Given the description of an element on the screen output the (x, y) to click on. 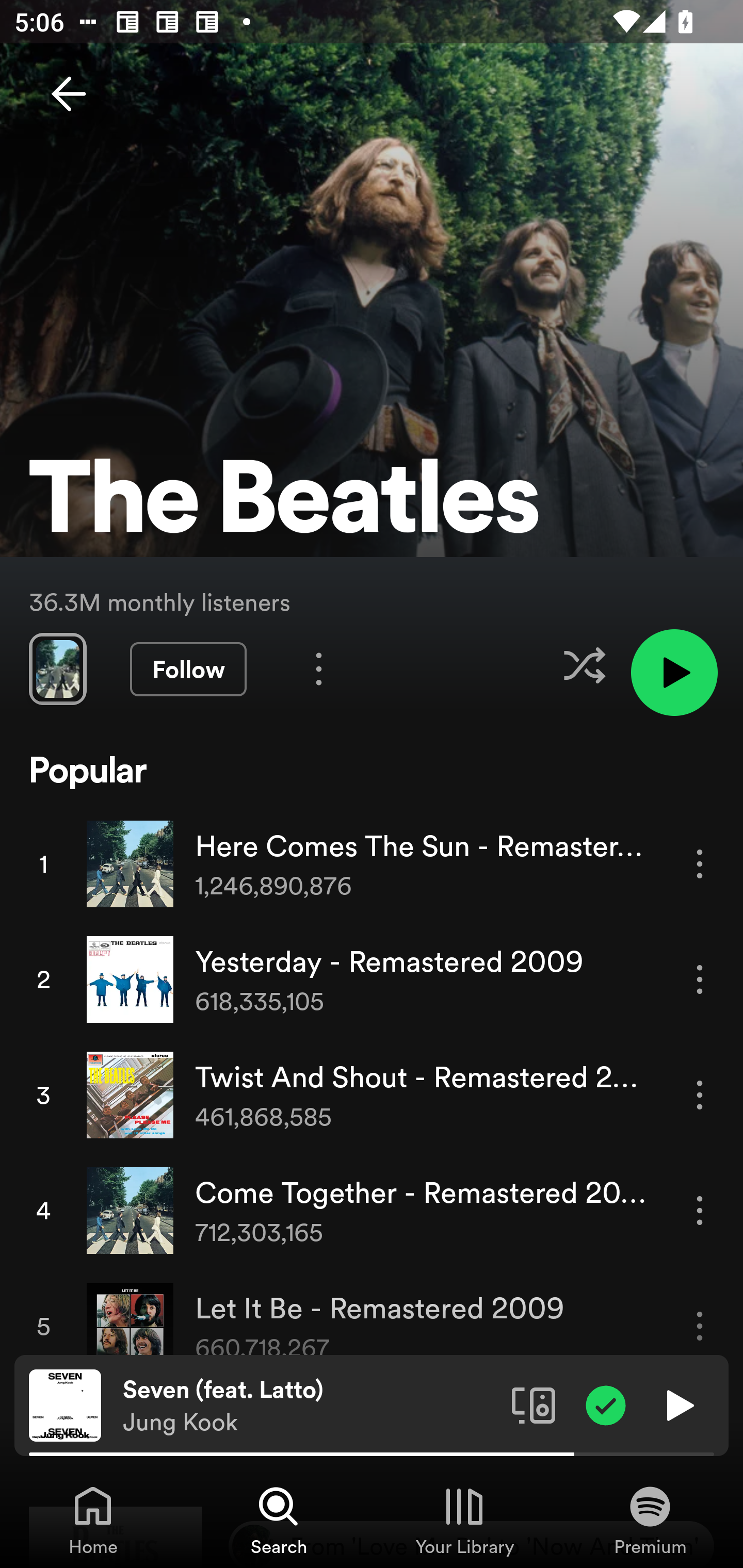
Back (68, 93)
Enable shuffle for this artist (583, 665)
Swipe through previews of tracks from this artist. (57, 668)
More options for artist The Beatles (318, 668)
Play artist (674, 672)
Follow (188, 669)
More options for song Yesterday - Remastered 2009 (699, 979)
More options for song Let It Be - Remastered 2009 (699, 1325)
Seven (feat. Latto) Jung Kook (309, 1405)
The cover art of the currently playing track (64, 1404)
Connect to a device. Opens the devices menu (533, 1404)
Item added (605, 1404)
Play (677, 1404)
Home, Tab 1 of 4 Home Home (92, 1519)
Search, Tab 2 of 4 Search Search (278, 1519)
Your Library, Tab 3 of 4 Your Library Your Library (464, 1519)
Premium, Tab 4 of 4 Premium Premium (650, 1519)
